Given the description of an element on the screen output the (x, y) to click on. 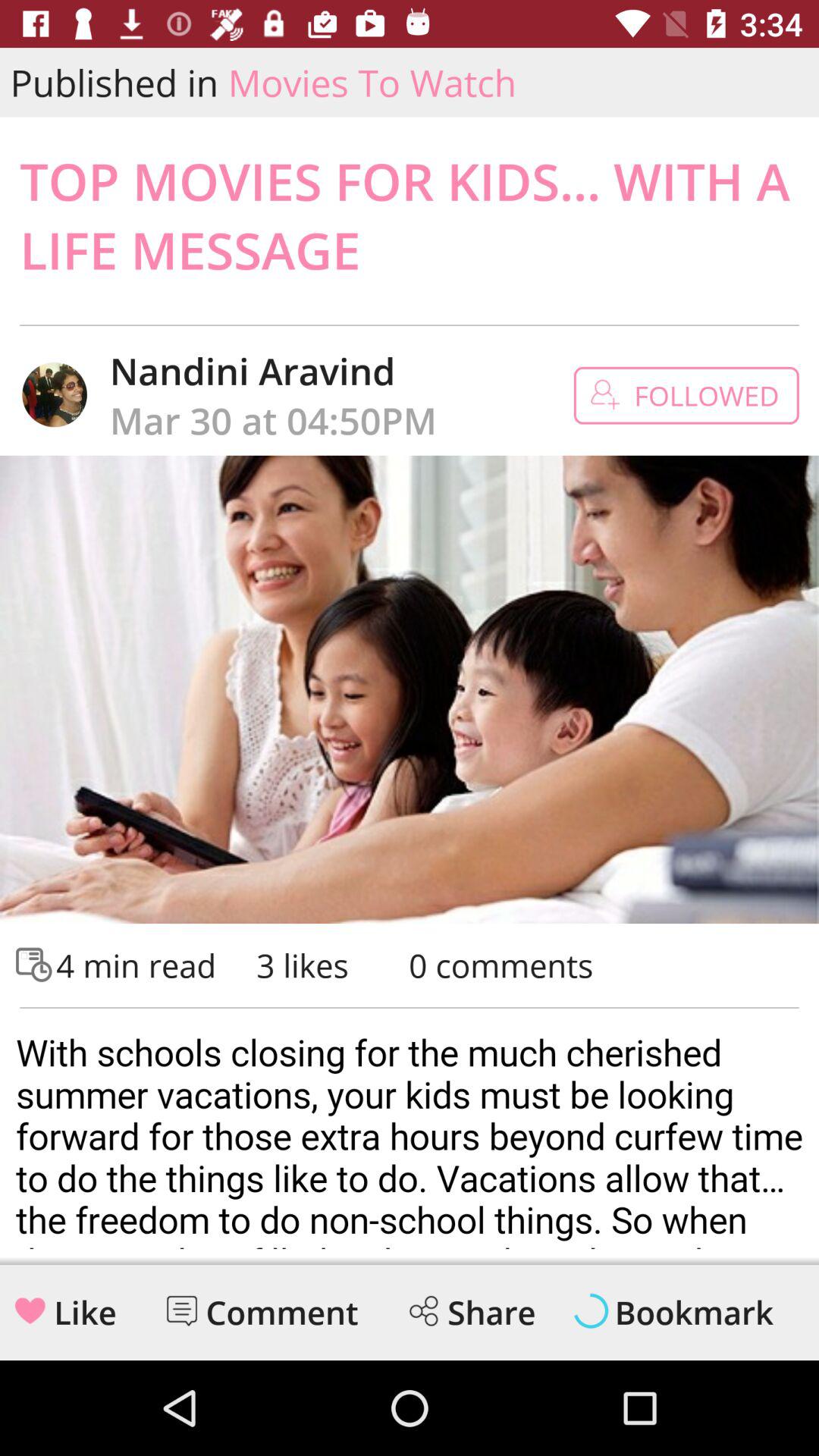
click on like button (85, 1312)
go to comment (282, 1312)
go to text bookmark (694, 1312)
click on comment symbol (181, 1310)
click like symbol from the left bottom (29, 1310)
